Given the description of an element on the screen output the (x, y) to click on. 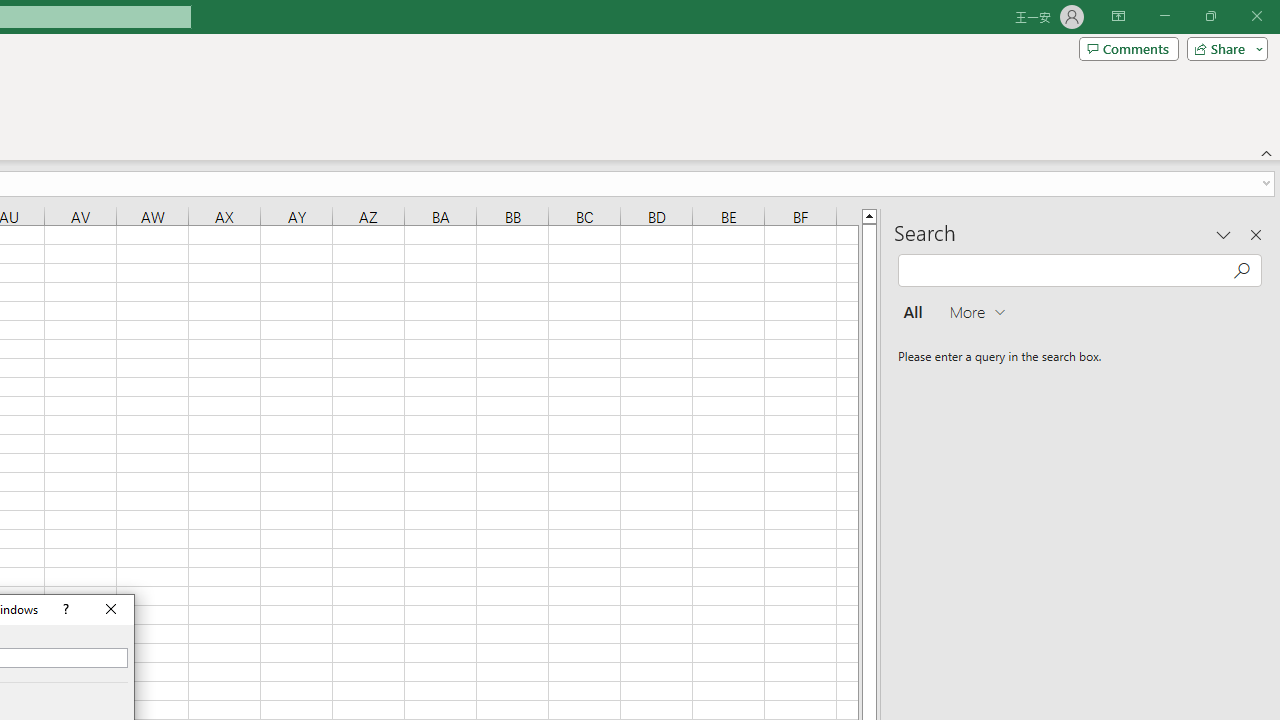
Context help (64, 609)
Task Pane Options (1224, 234)
Close pane (1256, 234)
Restore Down (1210, 16)
